Given the description of an element on the screen output the (x, y) to click on. 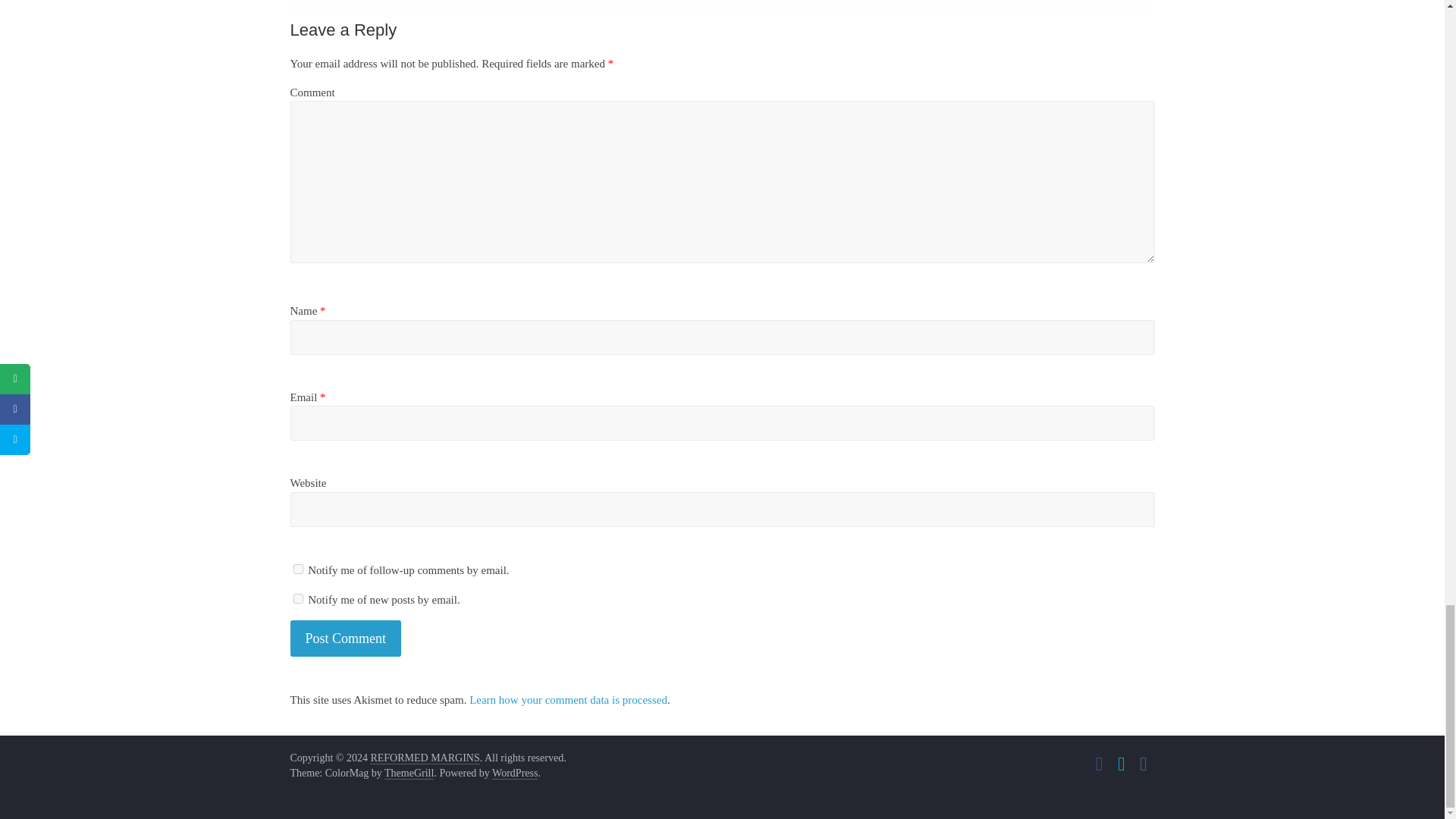
subscribe (297, 569)
subscribe (297, 598)
Post Comment (345, 638)
